Given the description of an element on the screen output the (x, y) to click on. 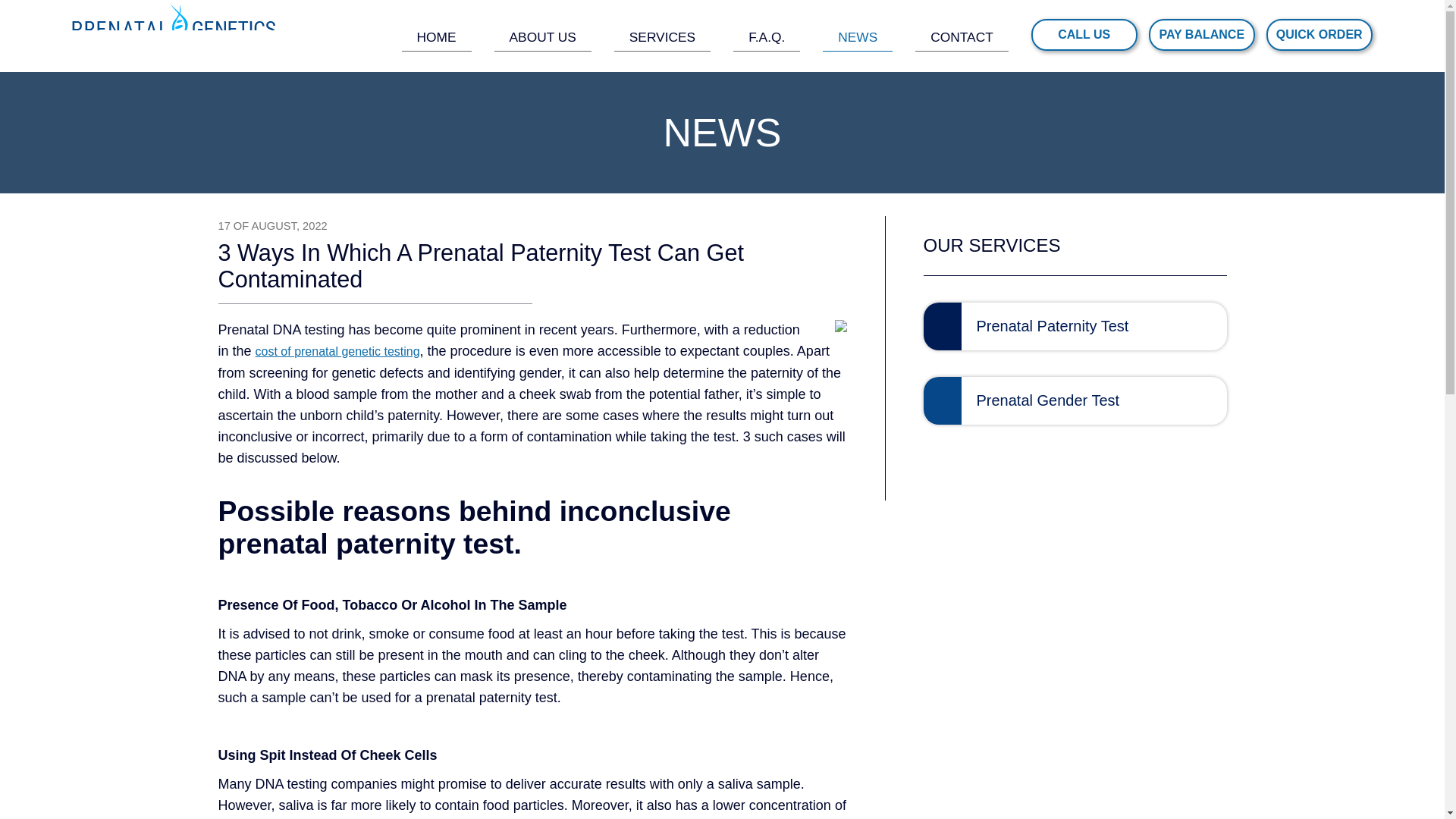
Prenatal Gender Test (1075, 400)
QUICK ORDER (1319, 34)
HOME (436, 36)
CALL US (1083, 34)
SERVICES (662, 36)
F.A.Q. (766, 36)
PAY BALANCE (1201, 34)
Prenatal Paternity Test (1075, 326)
ABOUT US (543, 36)
CONTACT (961, 36)
